Given the description of an element on the screen output the (x, y) to click on. 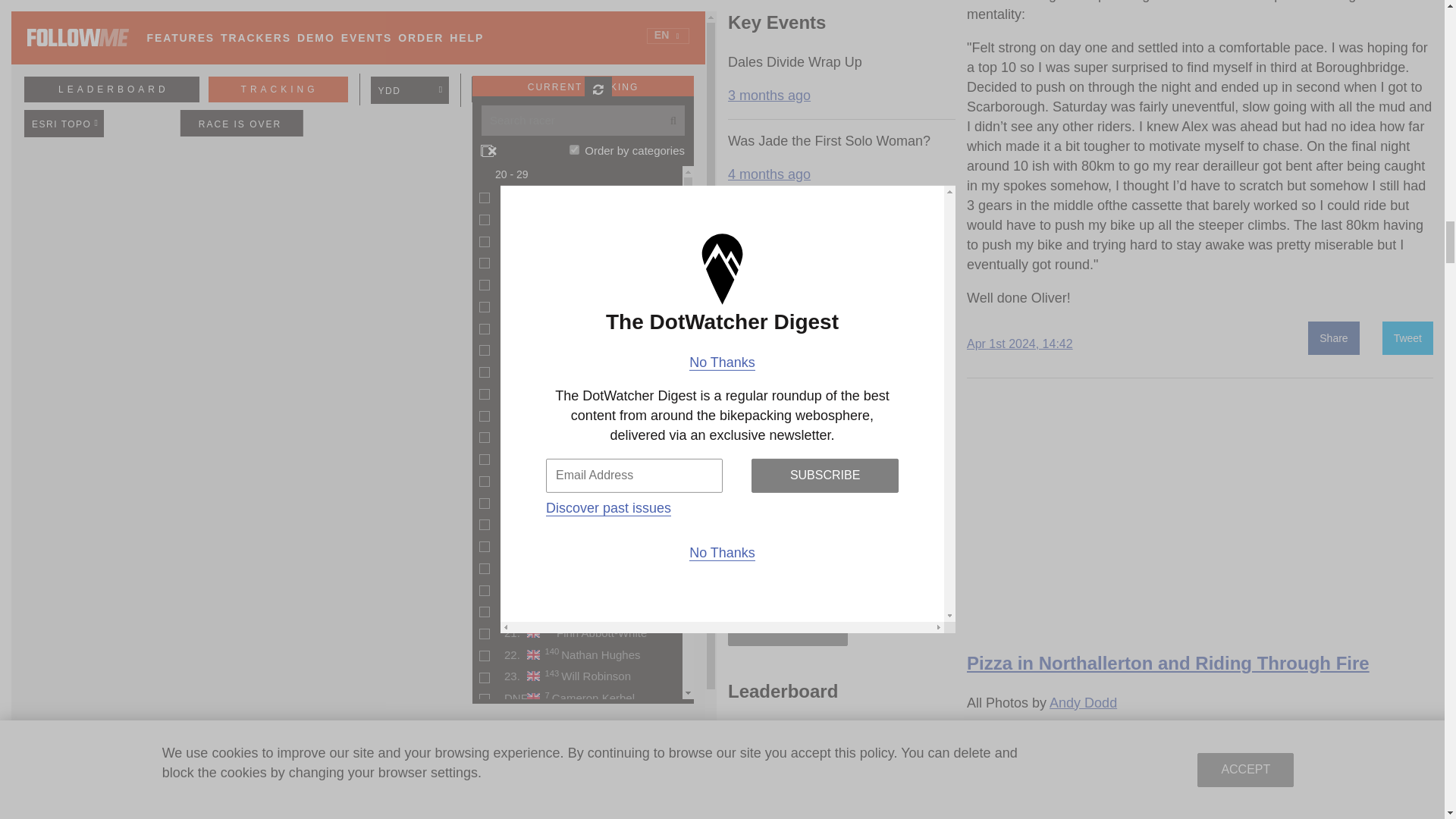
Share (1332, 337)
Apr 1st 2024, 14:42 (1019, 343)
Pizza in Northallerton and Riding Through Fire (1199, 520)
Tweet (1406, 337)
Pizza in Northallerton and Riding Through Fire (1168, 662)
Pizza in Northallerton and Riding Through Fire (1168, 662)
Andy Dodd (1082, 702)
